Given the description of an element on the screen output the (x, y) to click on. 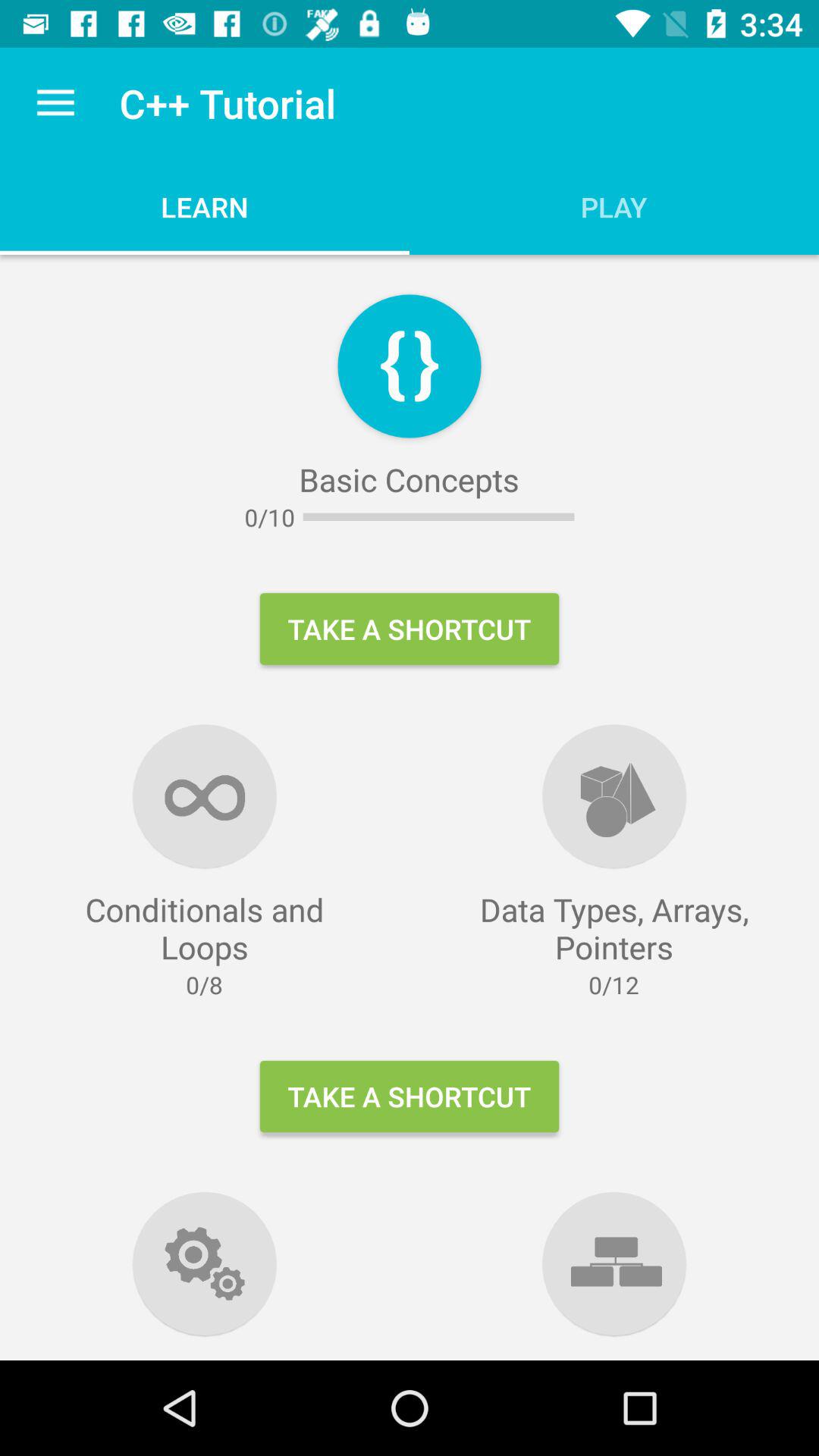
turn on icon next to the c++ tutorial icon (55, 103)
